Given the description of an element on the screen output the (x, y) to click on. 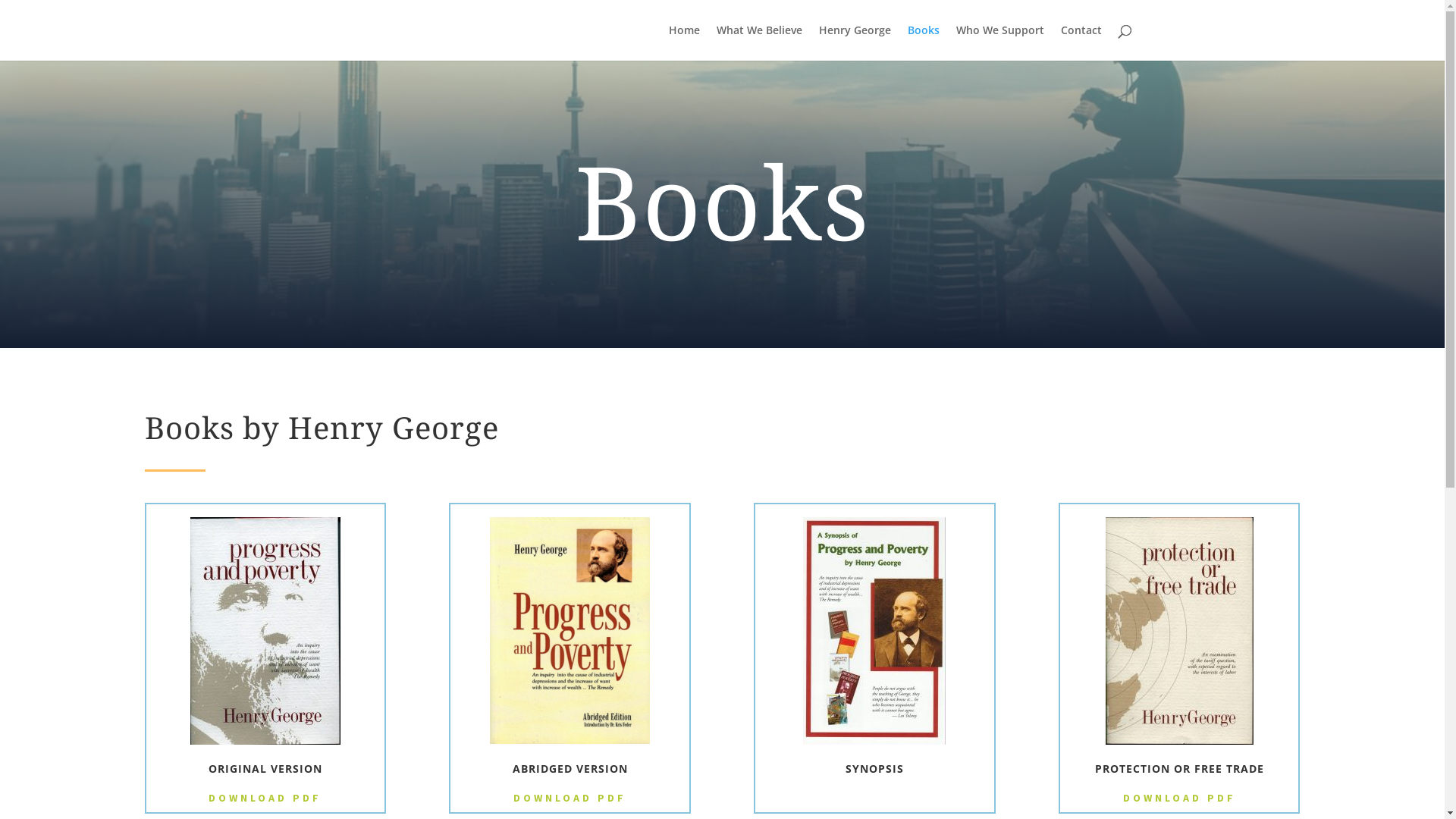
What We Believe Element type: text (758, 42)
DOWNLOAD PDF Element type: text (1179, 798)
Contact Element type: text (1080, 42)
Books Element type: text (922, 42)
DOWNLOAD PDF Element type: text (264, 798)
Home Element type: text (683, 42)
DOWNLOAD PDF Element type: text (569, 798)
Henry George Element type: text (855, 42)
Who We Support Element type: text (999, 42)
